Given the description of an element on the screen output the (x, y) to click on. 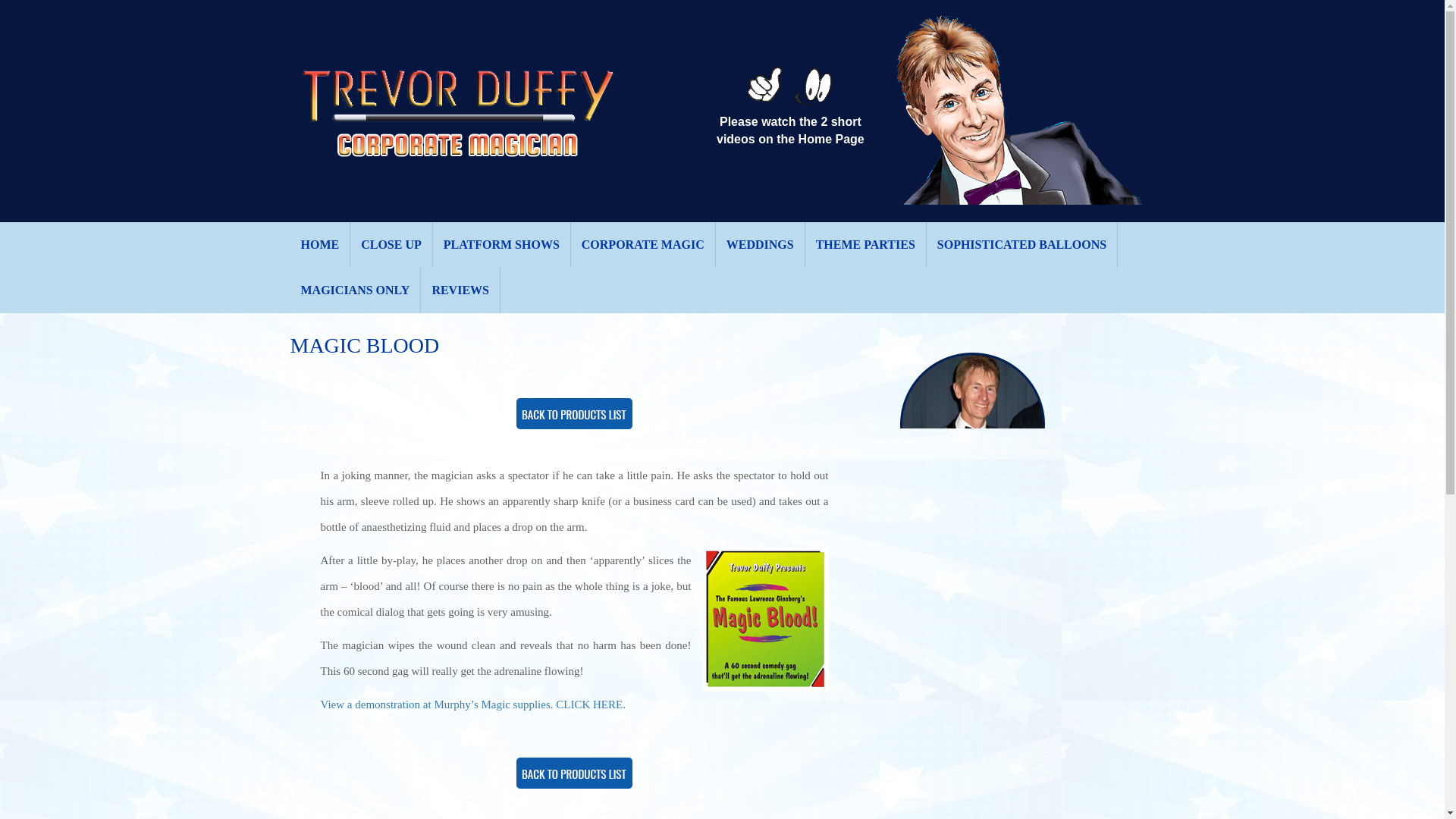
Back to Products List (573, 413)
CORPORATE MAGIC (643, 244)
CLOSE UP (391, 244)
HOME (319, 244)
Back to Products List (573, 773)
MAGICIANS ONLY (354, 289)
WEDDINGS (760, 244)
SOPHISTICATED BALLOONS (1022, 244)
PLATFORM SHOWS (501, 244)
THEME PARTIES (865, 244)
